Given the description of an element on the screen output the (x, y) to click on. 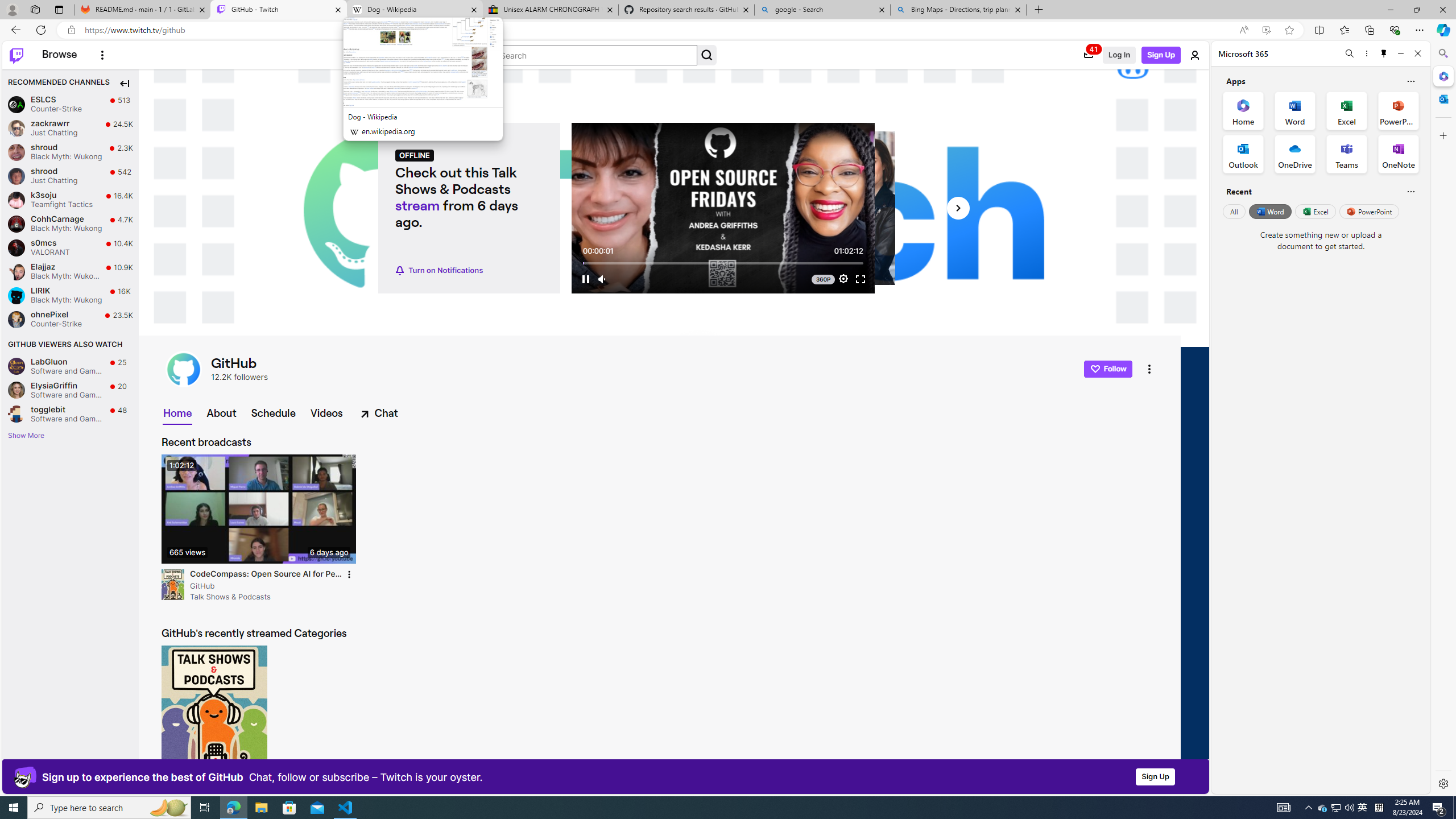
ESLCS ESLCS Counter-Strike Live 513 viewers (70, 103)
Videos (326, 413)
Follow GitHub (1107, 368)
OneDrive Office App (1295, 154)
s0mcs (15, 247)
ohnePixel ohnePixel Counter-Strike Live 23.5K viewers (70, 319)
LIRIK (15, 295)
zackrawrr zackrawrr Just Chatting Live 24.5K viewers (70, 128)
More Options (102, 54)
Excel Office App (1346, 110)
